Given the description of an element on the screen output the (x, y) to click on. 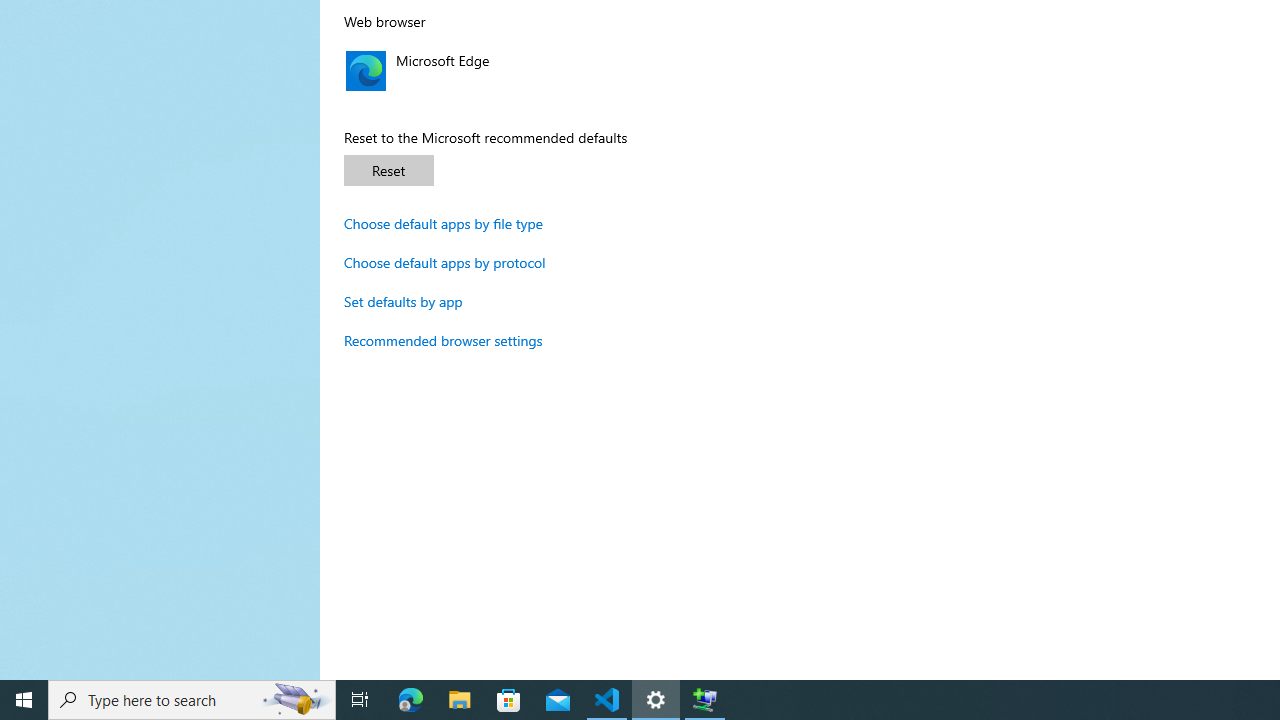
Choose default apps by file type (444, 223)
Extensible Wizards Host Process - 1 running window (704, 699)
Settings - 1 running window (656, 699)
Set defaults by app (403, 301)
Choose default apps by protocol (445, 262)
Reset (388, 169)
Recommended browser settings (443, 340)
Web browser, Microsoft Edge (554, 70)
